Given the description of an element on the screen output the (x, y) to click on. 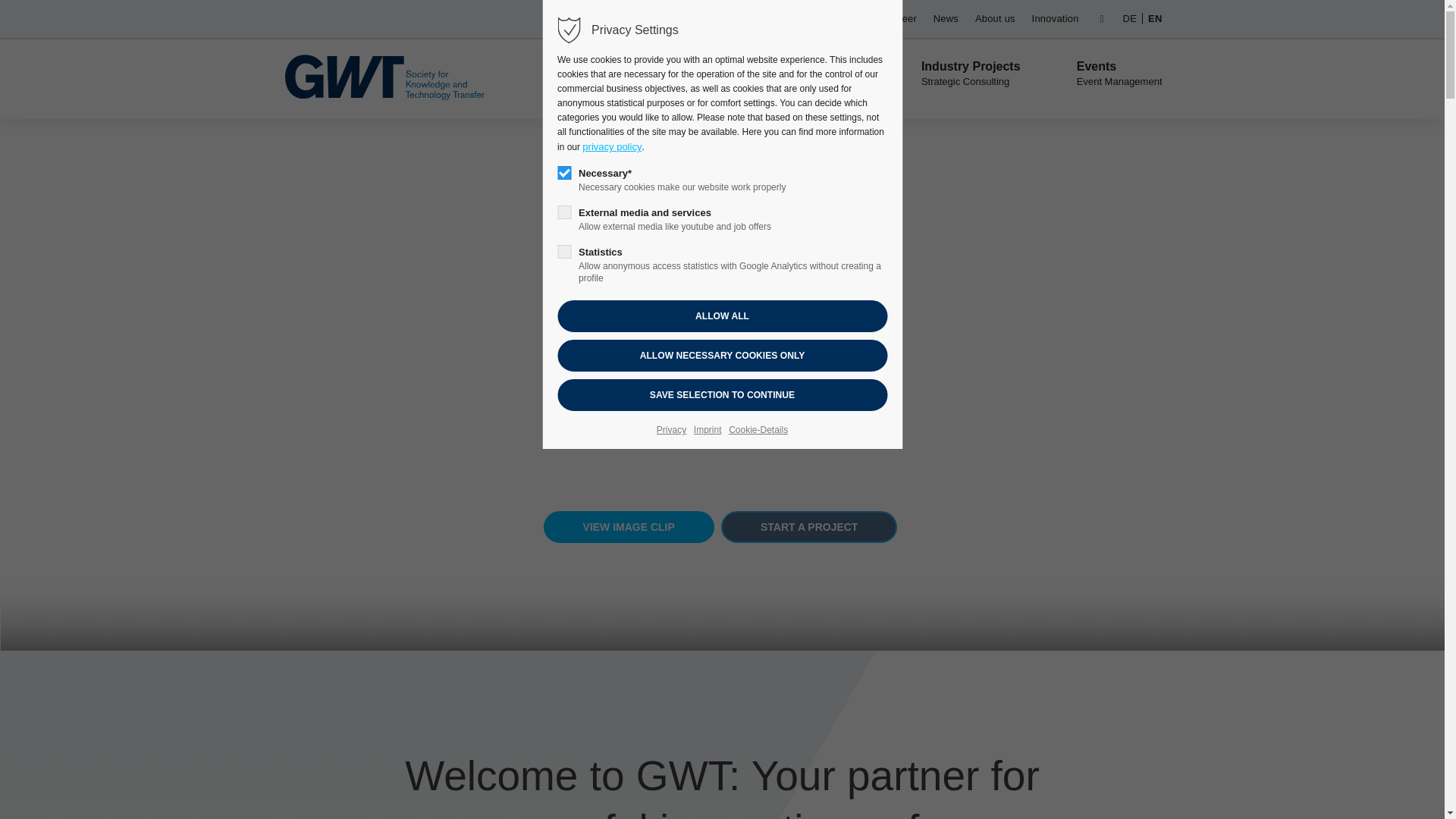
Innovation (1055, 18)
Career (901, 18)
Society for Knowledge and Technology Transfer (1151, 18)
Allow all (721, 316)
About us (994, 18)
Industry Projects (970, 73)
Events (1119, 73)
News (945, 18)
View image clip (628, 526)
START A PROJECT (808, 526)
Clinical Trials (814, 73)
Allow necessary cookies only (721, 355)
Innovation (1055, 18)
EN (1151, 18)
Industry Projects (970, 73)
